Given the description of an element on the screen output the (x, y) to click on. 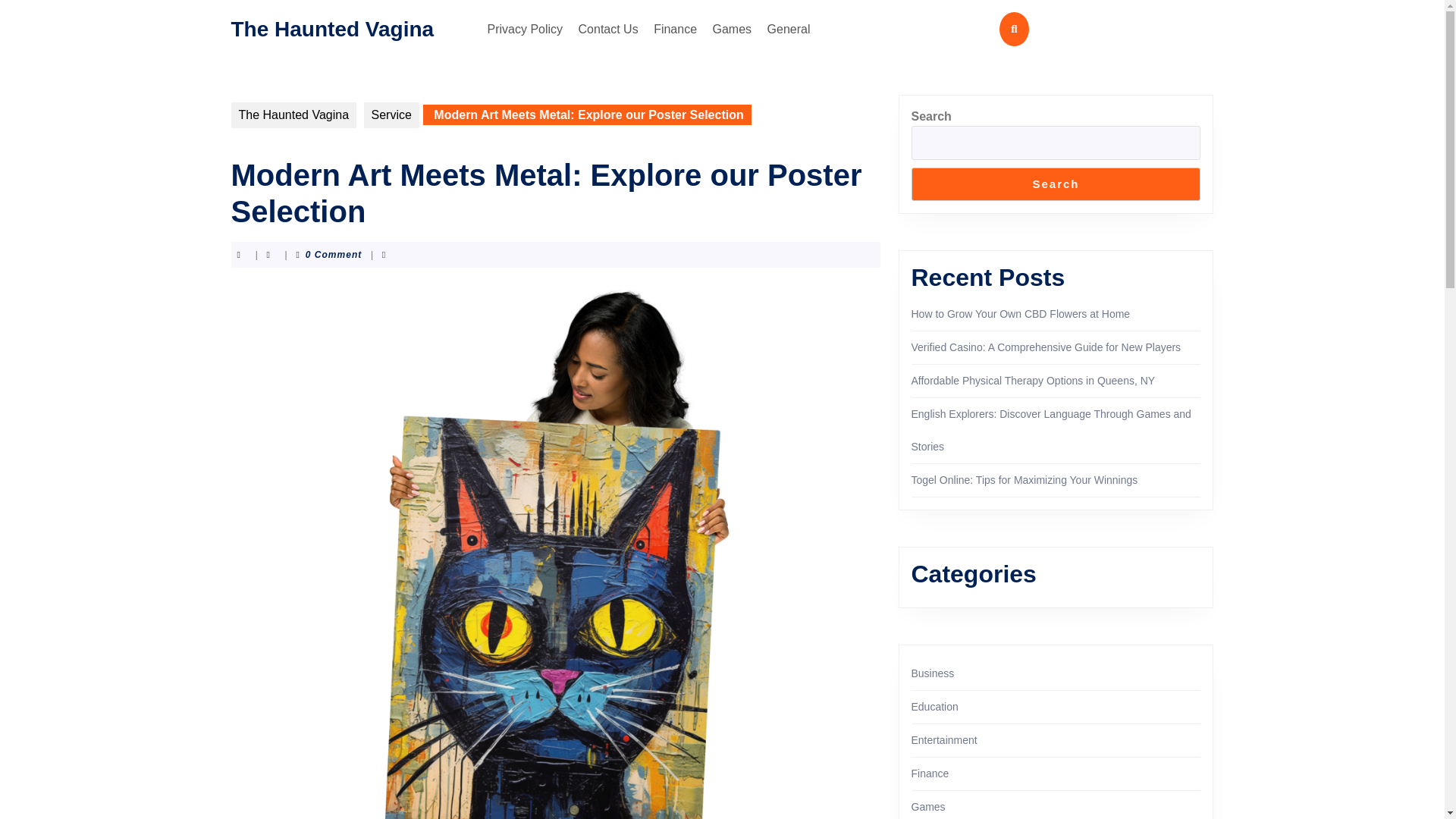
Contact Us (608, 28)
Togel Online: Tips for Maximizing Your Winnings (1024, 480)
Verified Casino: A Comprehensive Guide for New Players (1045, 346)
Privacy Policy (524, 28)
Affordable Physical Therapy Options in Queens, NY (1033, 380)
General (788, 28)
Search (1056, 183)
The Haunted Vagina (293, 114)
Service (391, 114)
